Given the description of an element on the screen output the (x, y) to click on. 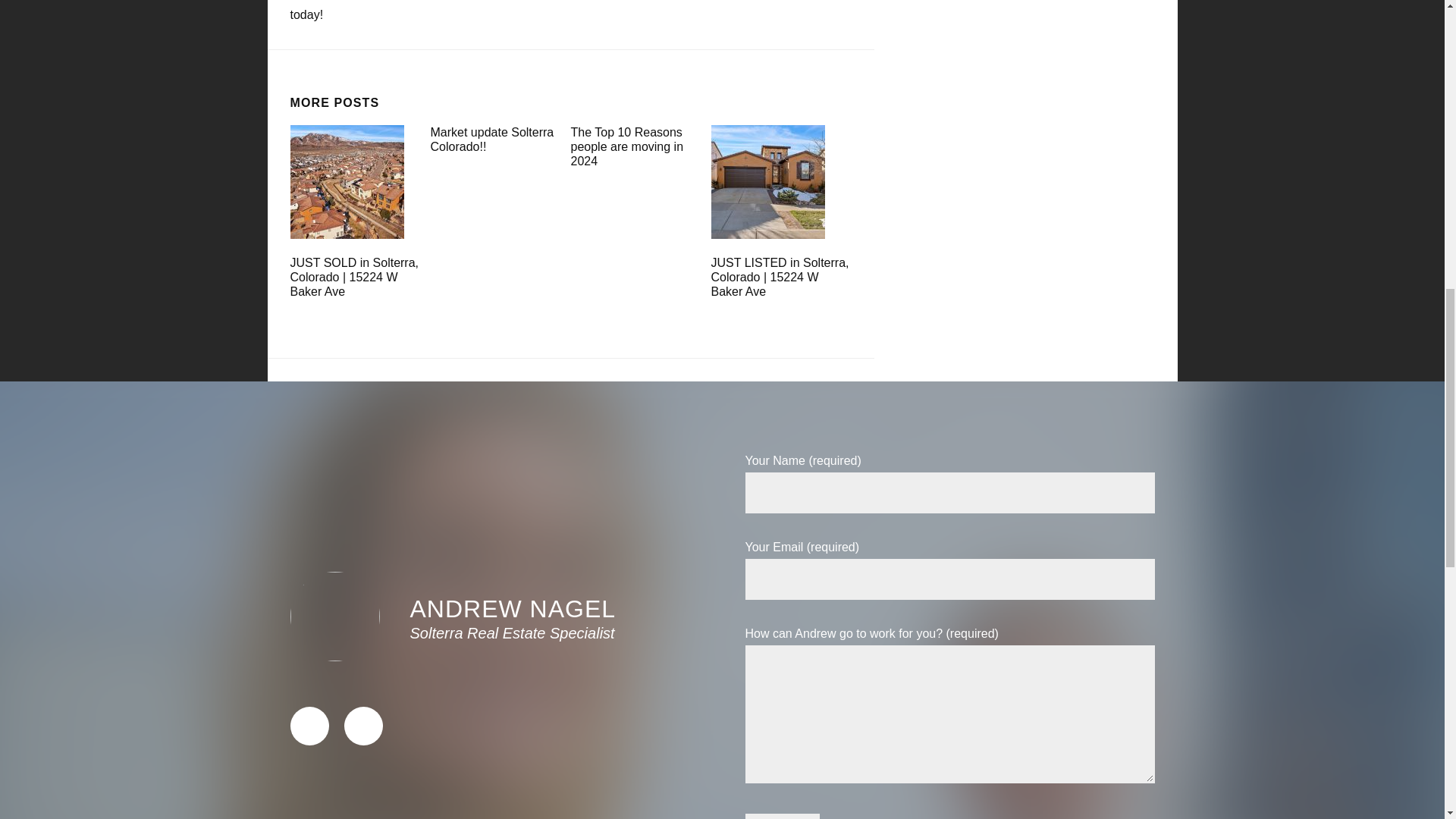
Send (781, 816)
ANDREW NAGEL (512, 608)
Send (781, 816)
The Top 10 Reasons people are moving in 2024 (626, 146)
Market update Solterra Colorado!! (492, 139)
